Given the description of an element on the screen output the (x, y) to click on. 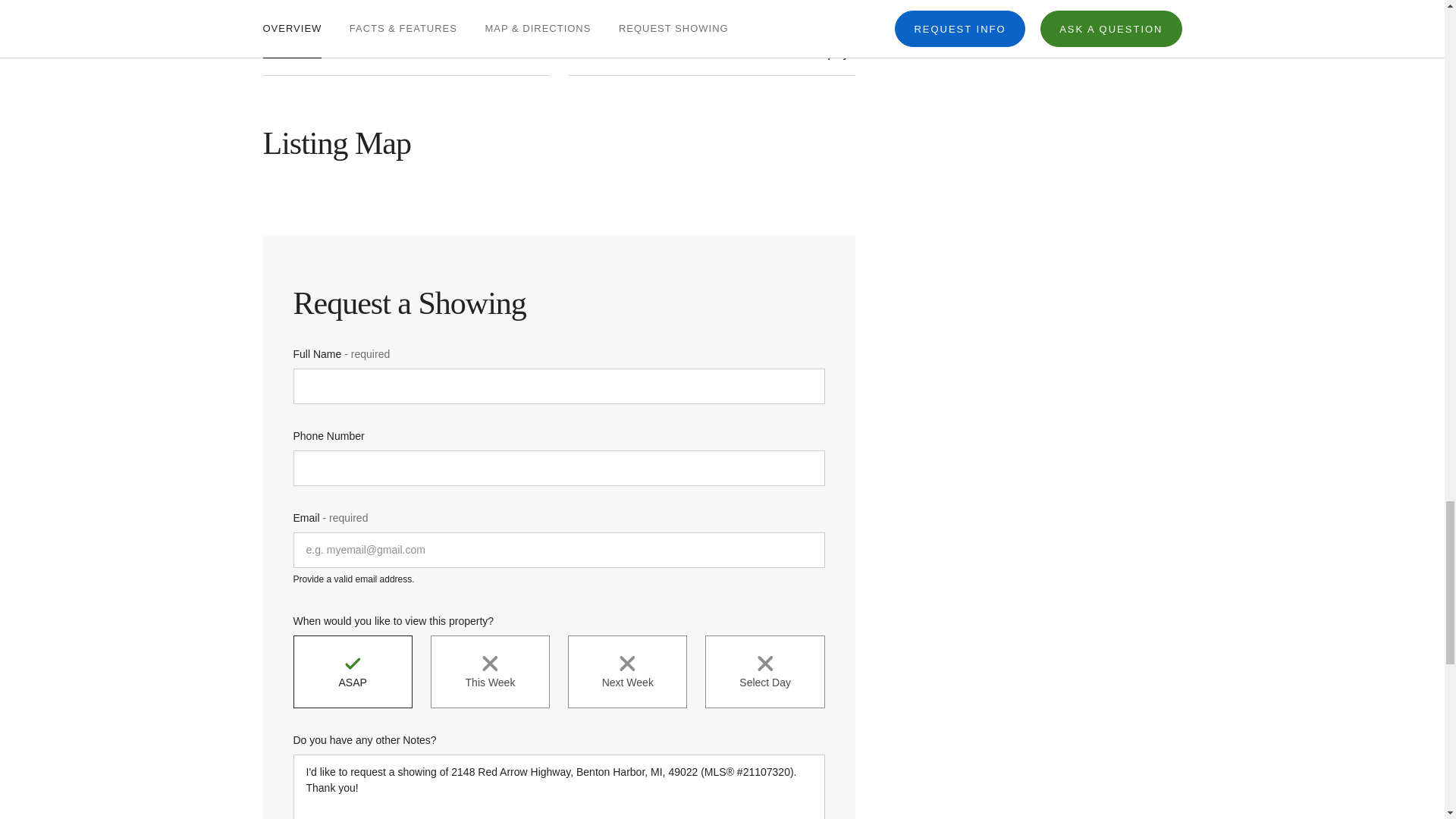
Next Week (627, 671)
This Week (490, 671)
ASAP (352, 671)
